Given the description of an element on the screen output the (x, y) to click on. 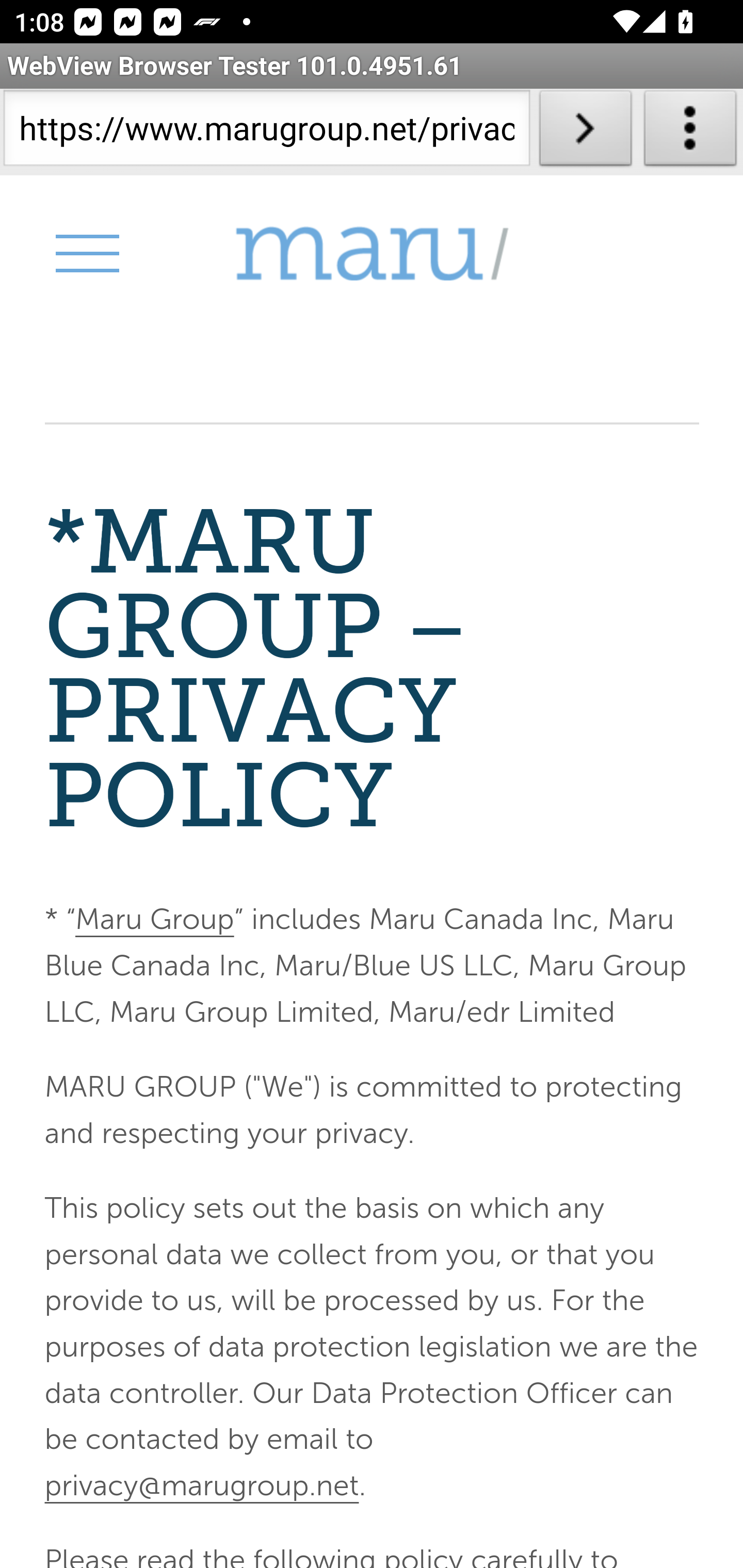
https://www.marugroup.net/privacy-policy/ (266, 132)
Load URL (585, 132)
About WebView (690, 132)
Open Menu (86, 252)
Maru Group (371, 253)
Maru Group (153, 920)
privacy@marugroup.net (200, 1484)
